Given the description of an element on the screen output the (x, y) to click on. 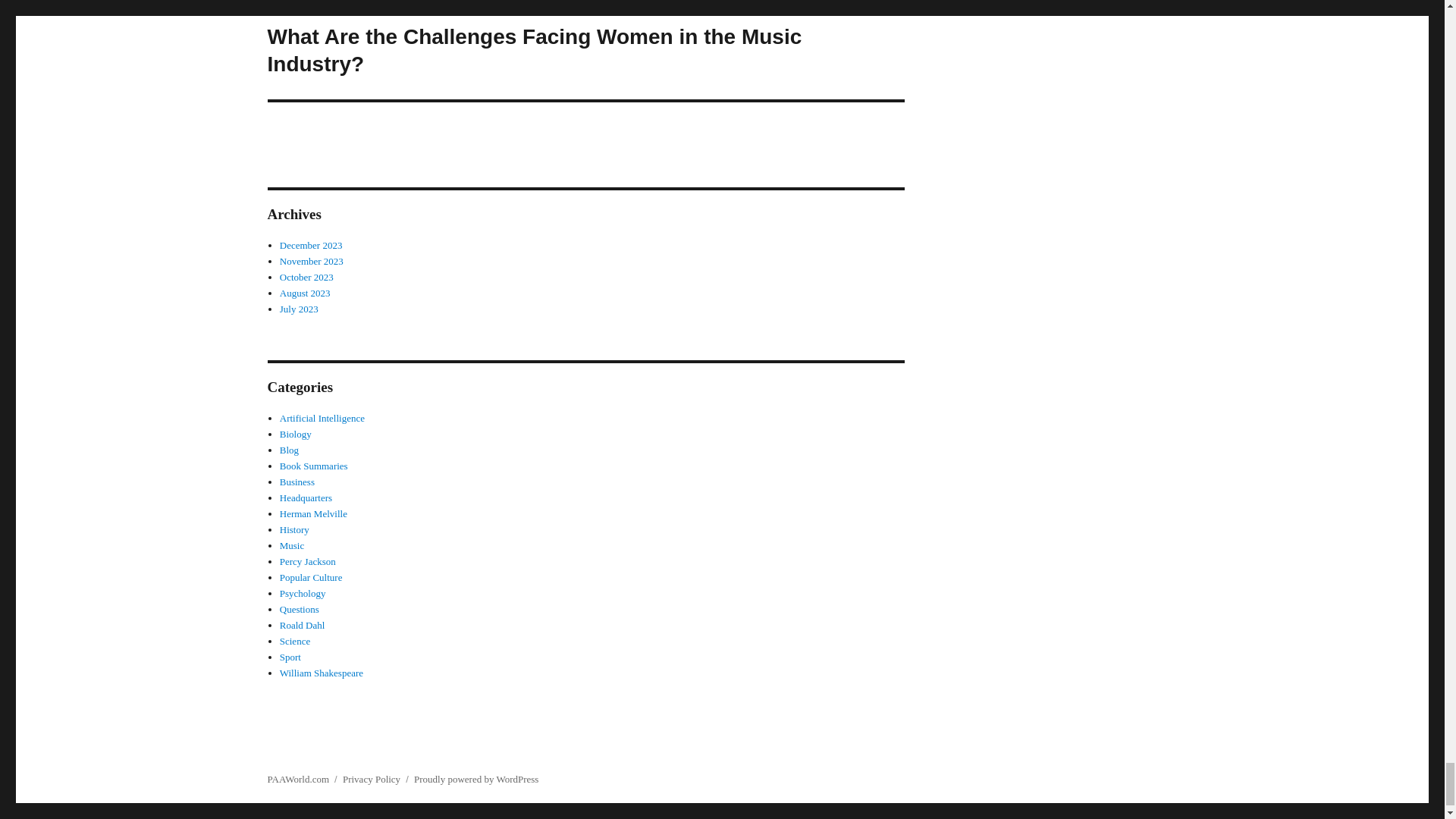
November 2023 (311, 260)
December 2023 (310, 244)
October 2023 (306, 276)
